Given the description of an element on the screen output the (x, y) to click on. 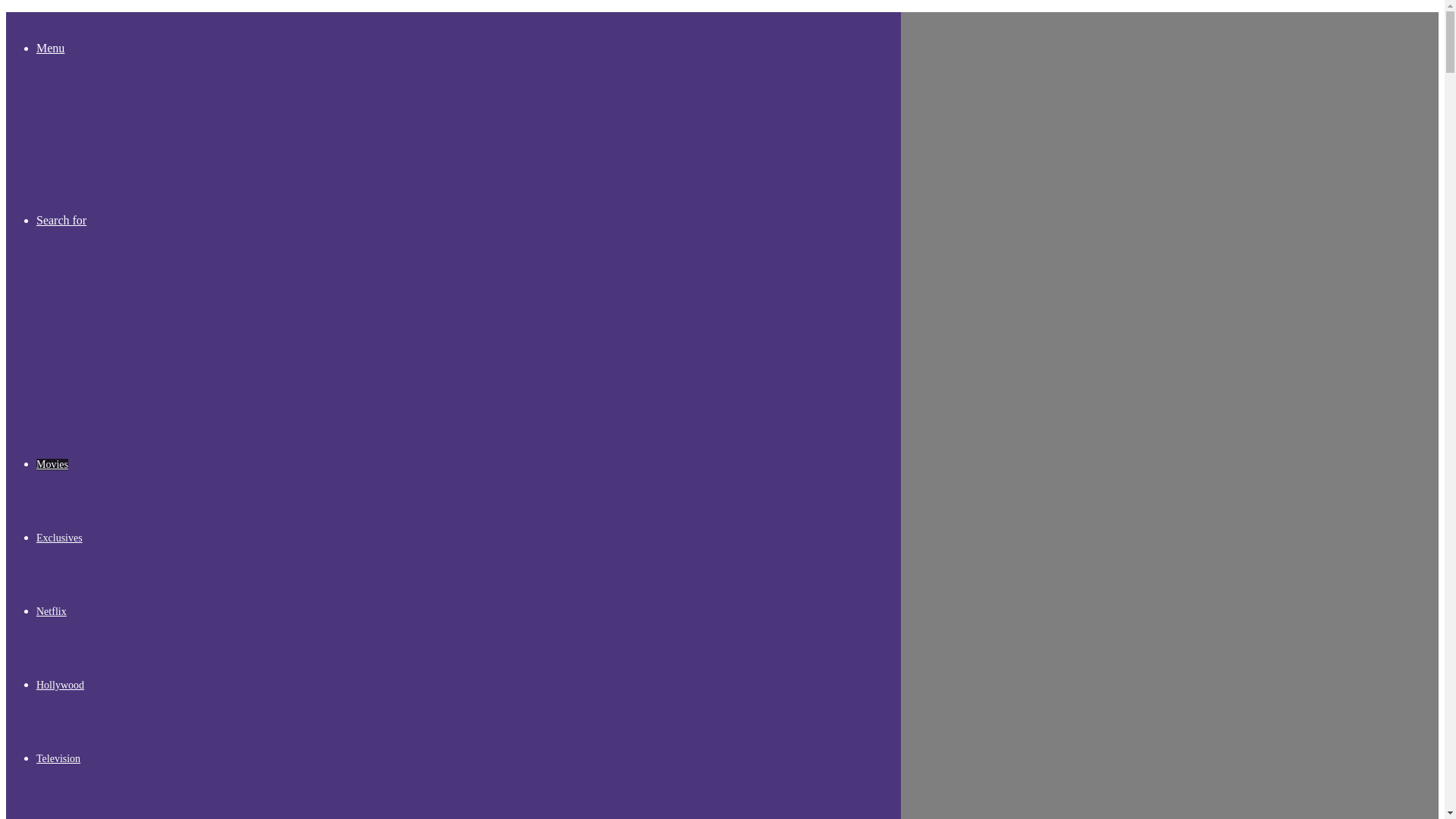
Menu (50, 47)
Search for (60, 219)
Exclusives (59, 537)
Movies (52, 464)
Television (58, 758)
QuirkyByte (60, 134)
QuirkyByte (118, 378)
Hollywood (60, 685)
Netflix (51, 611)
